Given the description of an element on the screen output the (x, y) to click on. 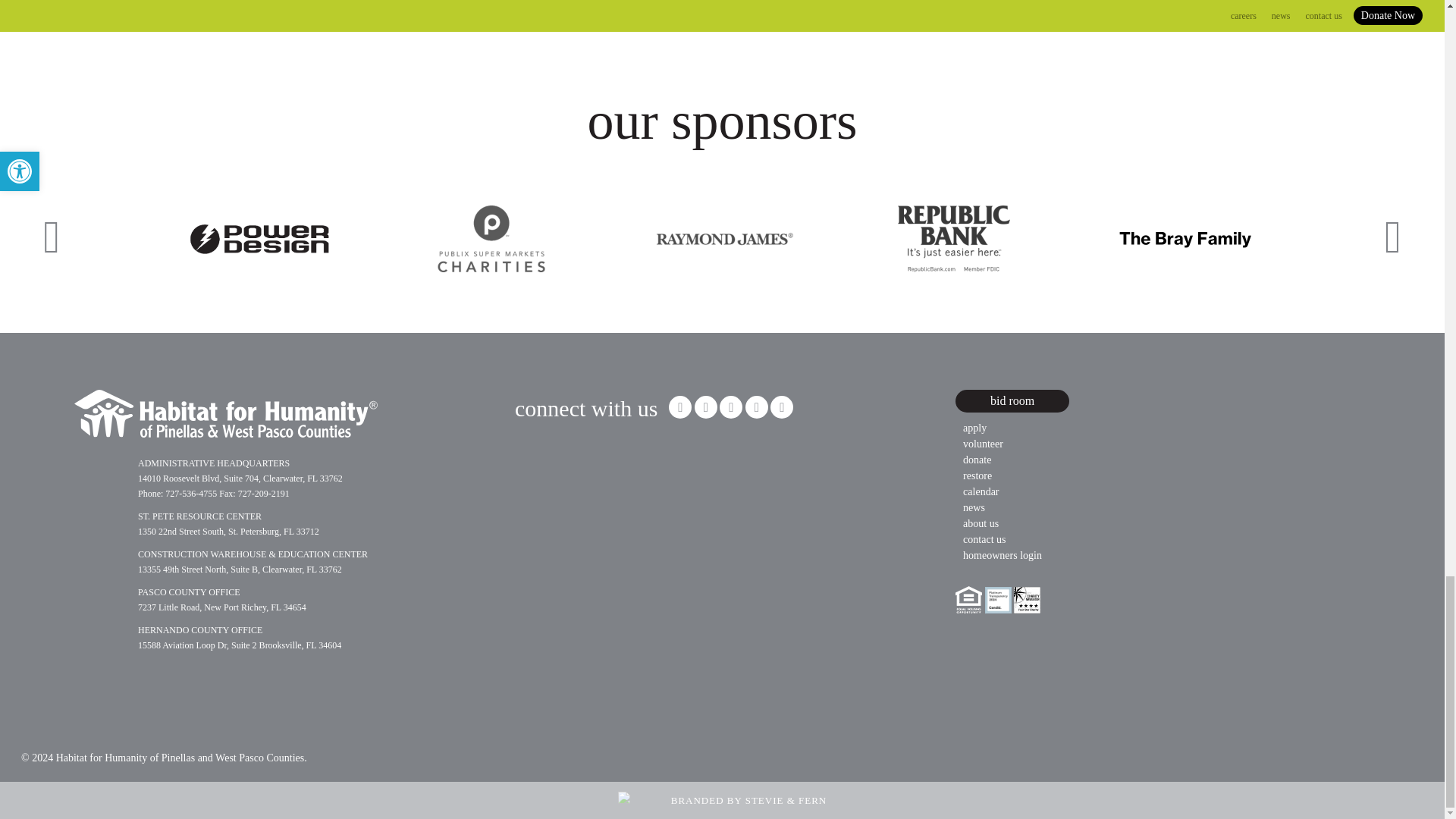
Form 0 (628, 501)
